Given the description of an element on the screen output the (x, y) to click on. 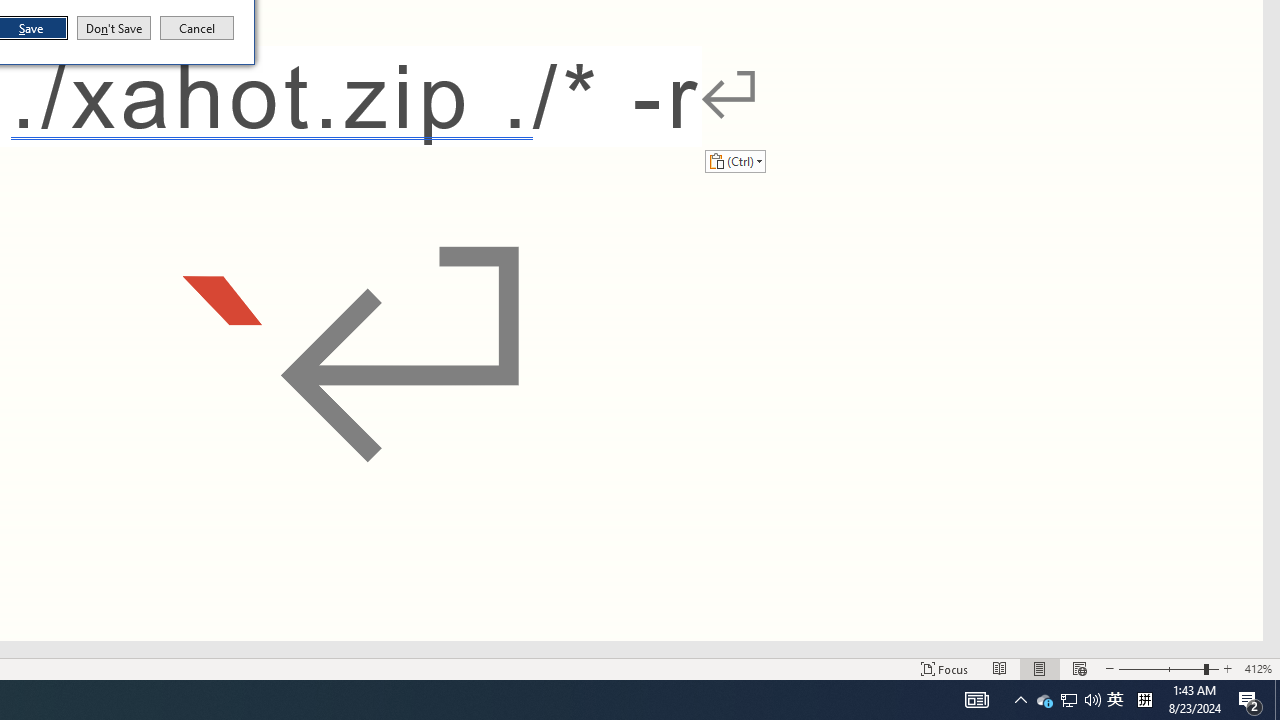
Zoom (1168, 668)
Action Center, 2 new notifications (1250, 699)
Tray Input Indicator - Chinese (Simplified, China) (1144, 699)
Cancel (197, 27)
Action: Paste alternatives (735, 160)
Notification Chevron (1020, 699)
User Promoted Notification Area (1068, 699)
Show desktop (1115, 699)
